Given the description of an element on the screen output the (x, y) to click on. 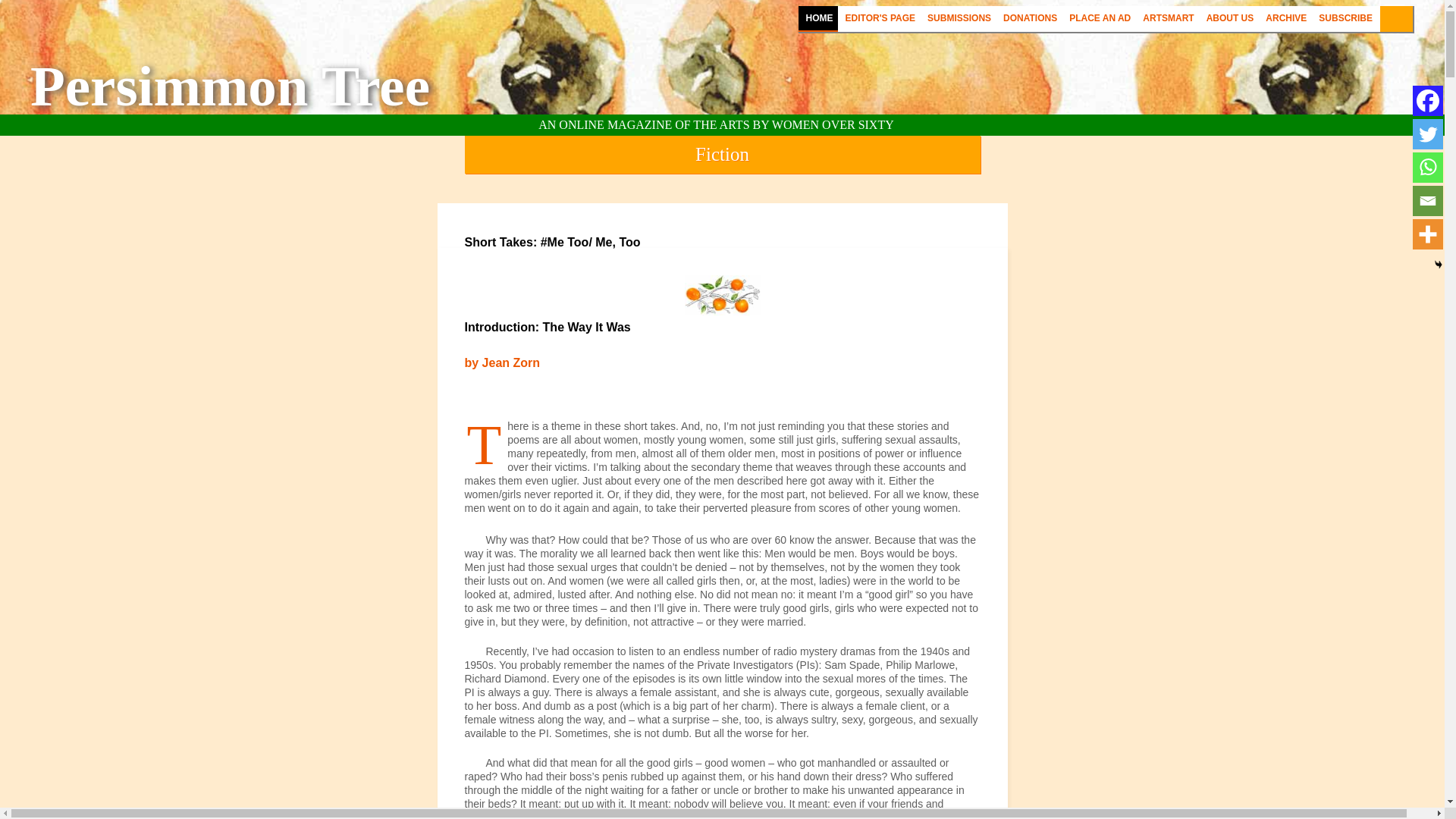
Whatsapp (1427, 167)
ARCHIVE (1285, 18)
Persimmon Tree (229, 85)
Persimmon Tree (229, 85)
Email (1427, 200)
Hide (1438, 264)
PLACE AN AD (1099, 18)
Twitter (1427, 133)
ABOUT US (1230, 18)
HOME (819, 18)
